Given the description of an element on the screen output the (x, y) to click on. 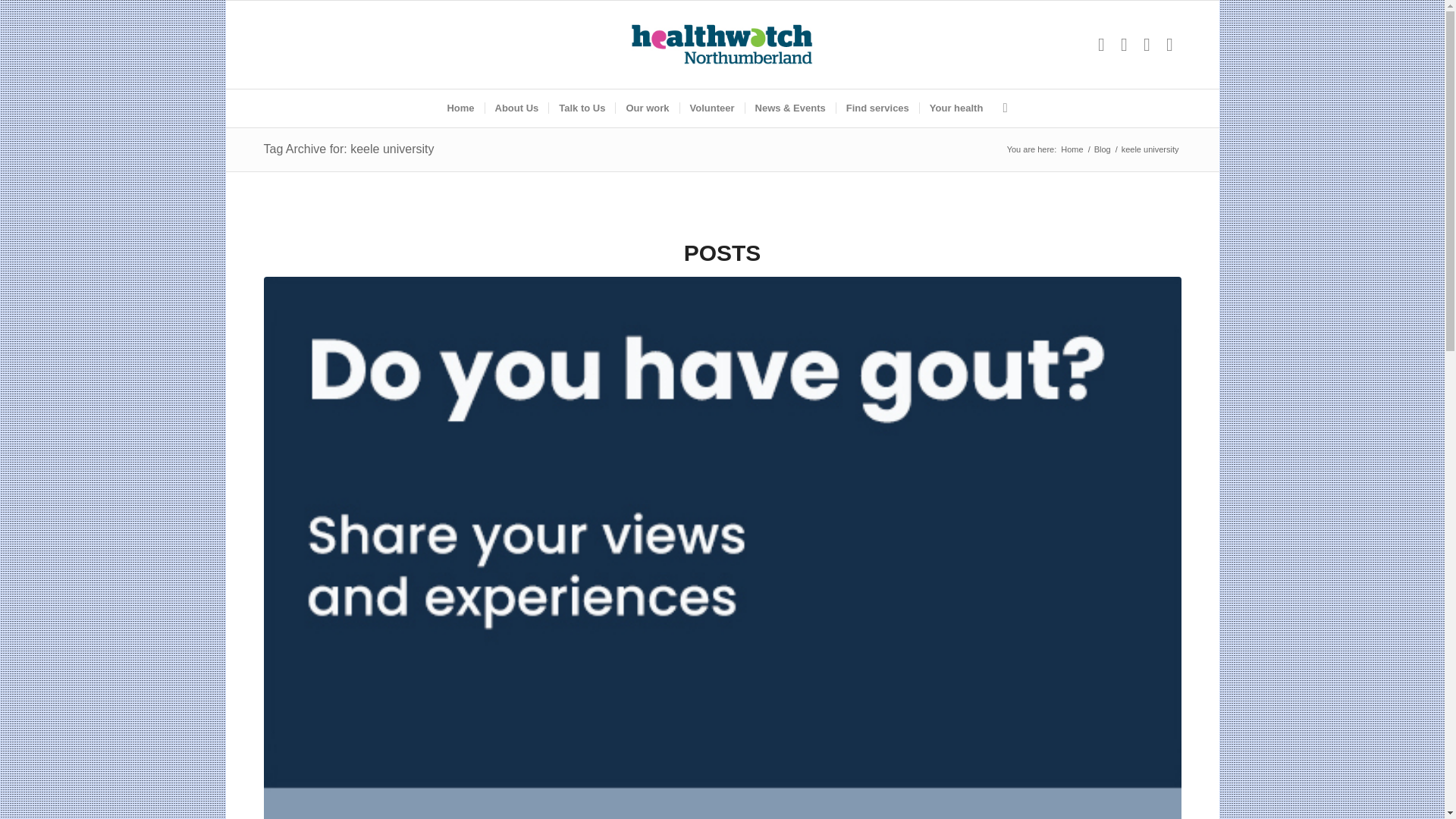
About Us (515, 108)
weblogo (722, 44)
Find services (876, 108)
Talk to Us (581, 108)
Home (459, 108)
Our work (646, 108)
Volunteer (711, 108)
Permanent Link: Tag Archive for: keele university (348, 148)
